Given the description of an element on the screen output the (x, y) to click on. 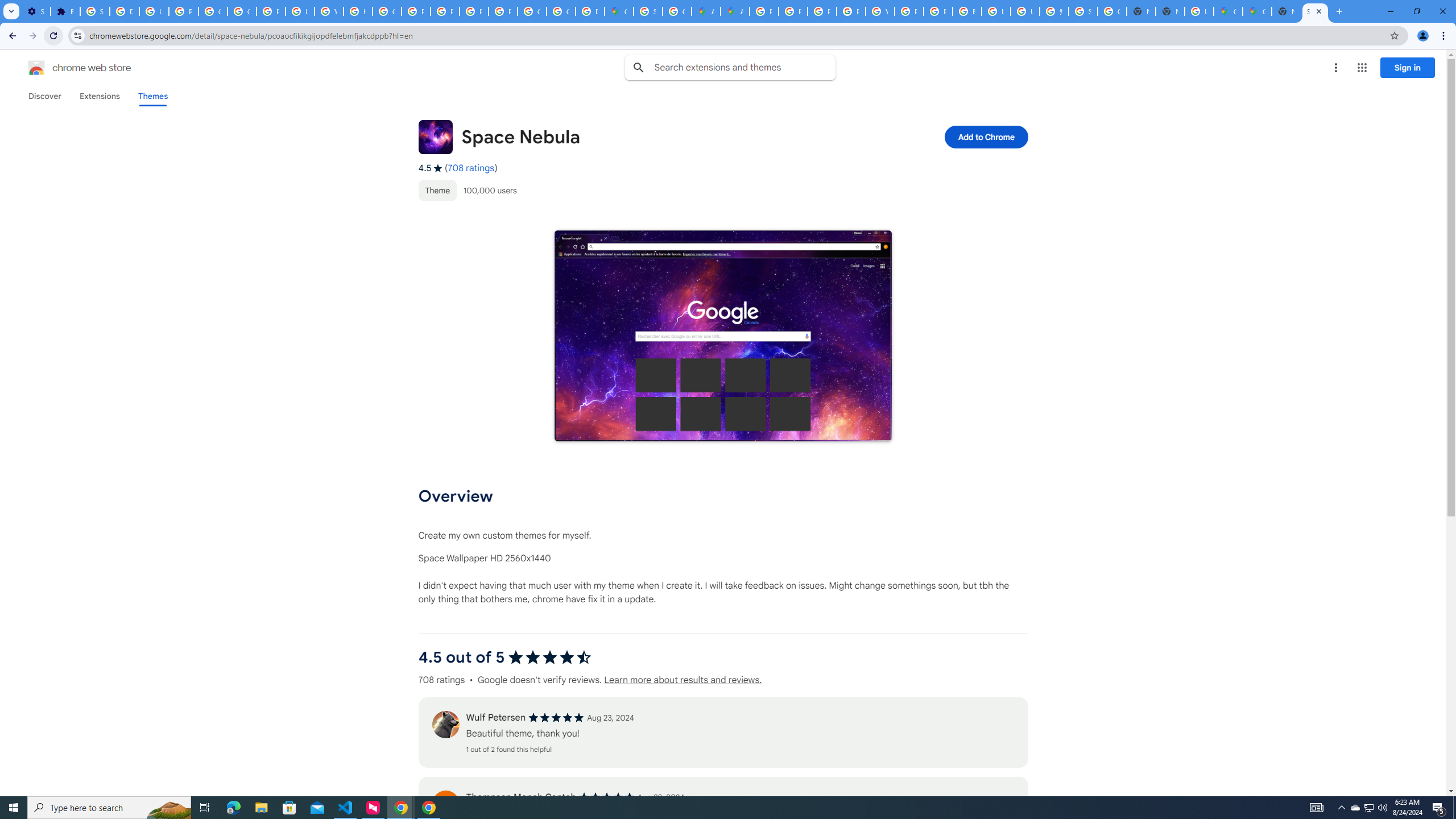
Search input (744, 67)
Theme (437, 190)
Item logo image for Space Nebula (434, 136)
YouTube (879, 11)
Space Nebula - Chrome Web Store (1315, 11)
Item media 1 screenshot (723, 336)
4.5 out of 5 stars (549, 657)
